Given the description of an element on the screen output the (x, y) to click on. 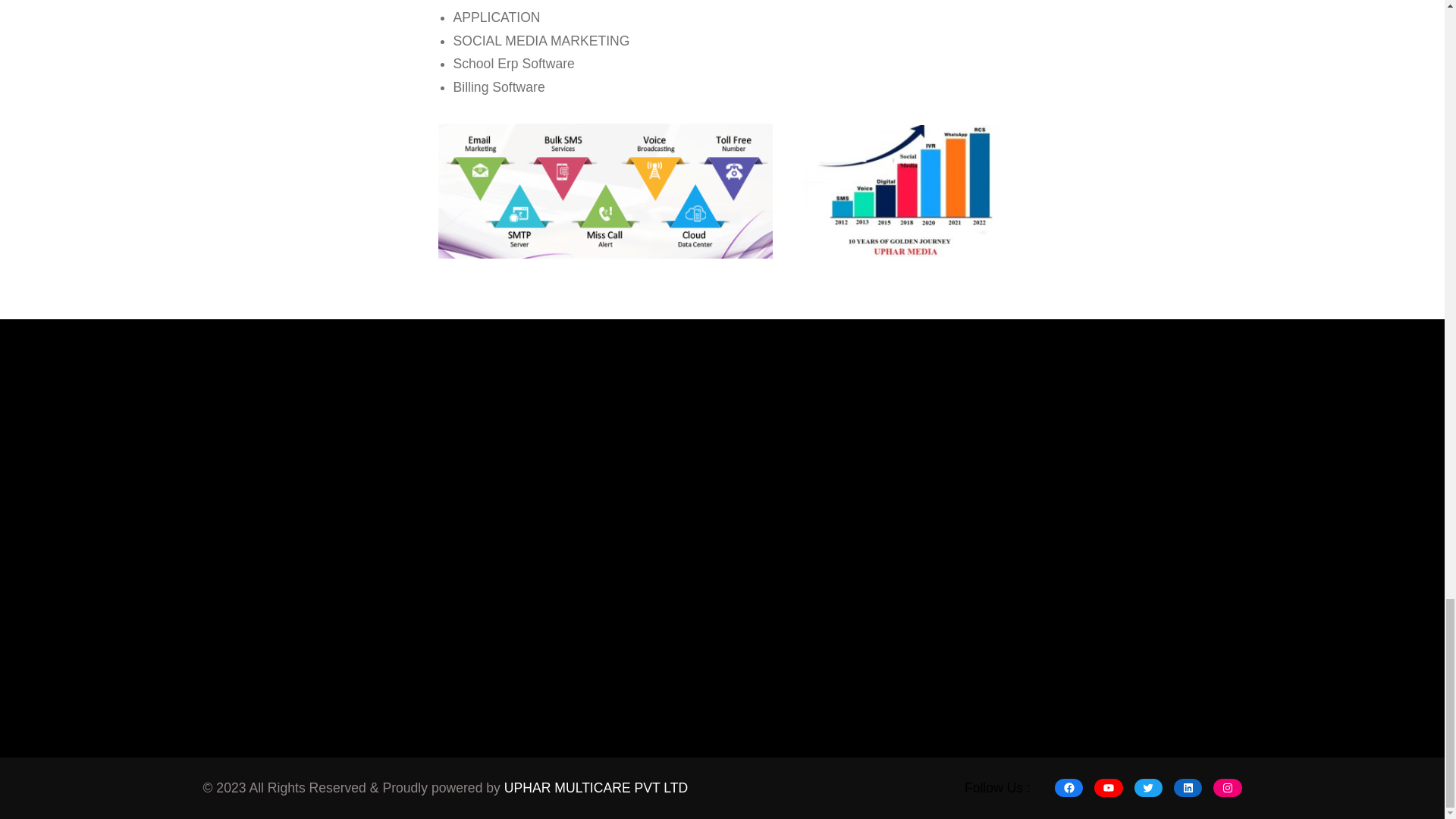
Facebook (1068, 787)
Twitter (1147, 787)
Instagram (1226, 787)
LinkedIn (1187, 787)
YouTube (1108, 787)
UPHAR MULTICARE PVT LTD (595, 787)
